Given the description of an element on the screen output the (x, y) to click on. 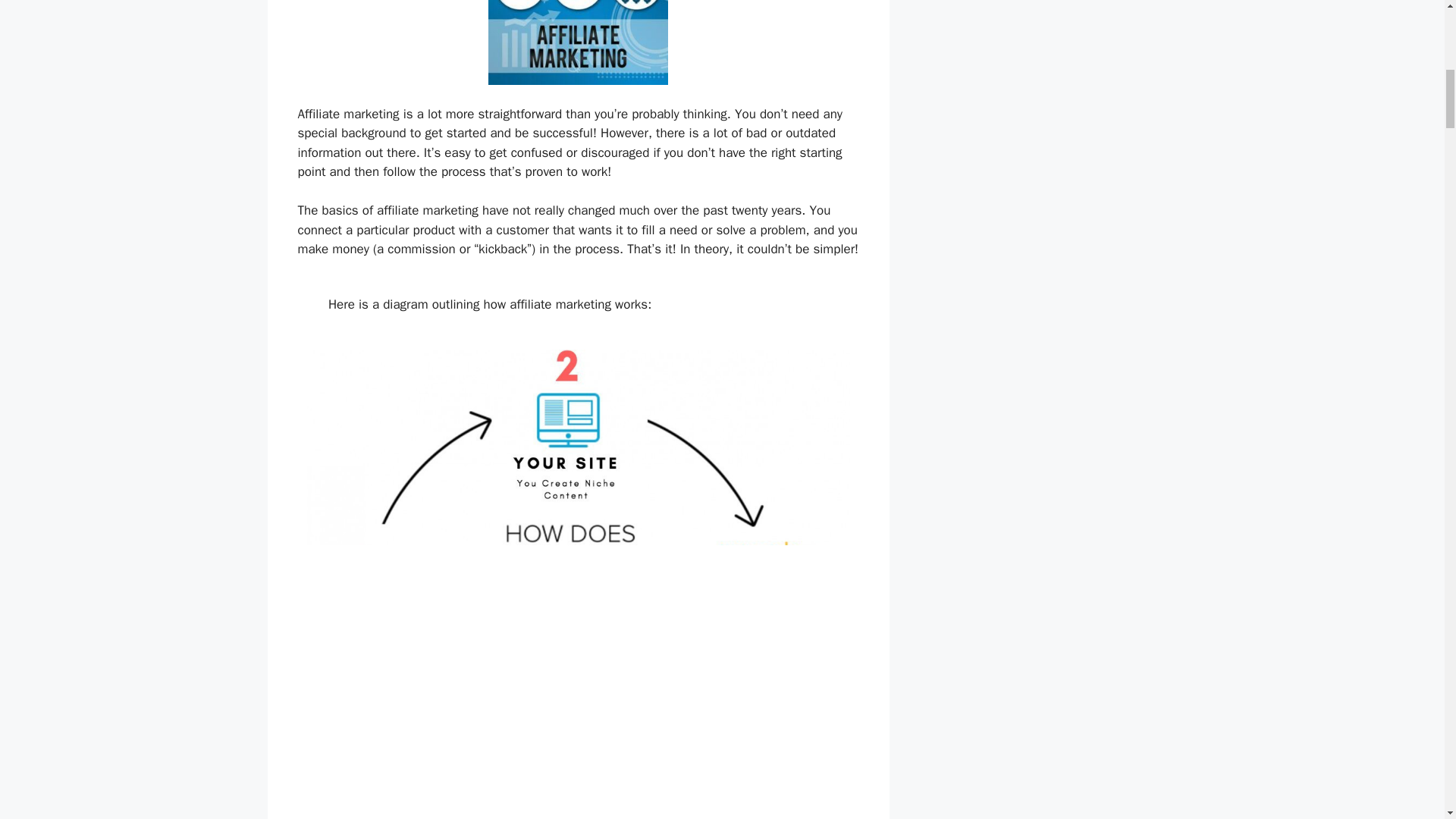
How affiliate marketing works (577, 42)
Scroll back to top (1406, 720)
